Given the description of an element on the screen output the (x, y) to click on. 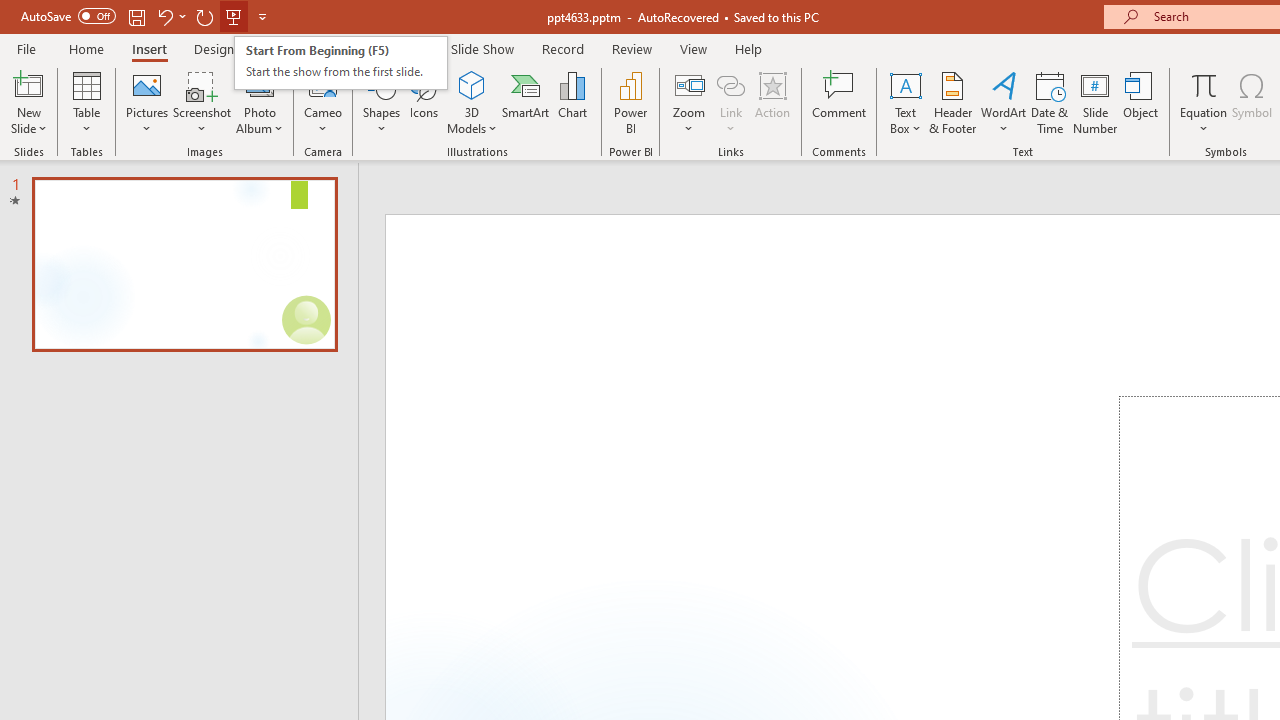
WordArt (1004, 102)
Draw Horizontal Text Box (905, 84)
Screenshot (202, 102)
Date & Time... (1050, 102)
Chart... (572, 102)
Slide Number (1095, 102)
New Photo Album... (259, 84)
Symbol... (1252, 102)
